Given the description of an element on the screen output the (x, y) to click on. 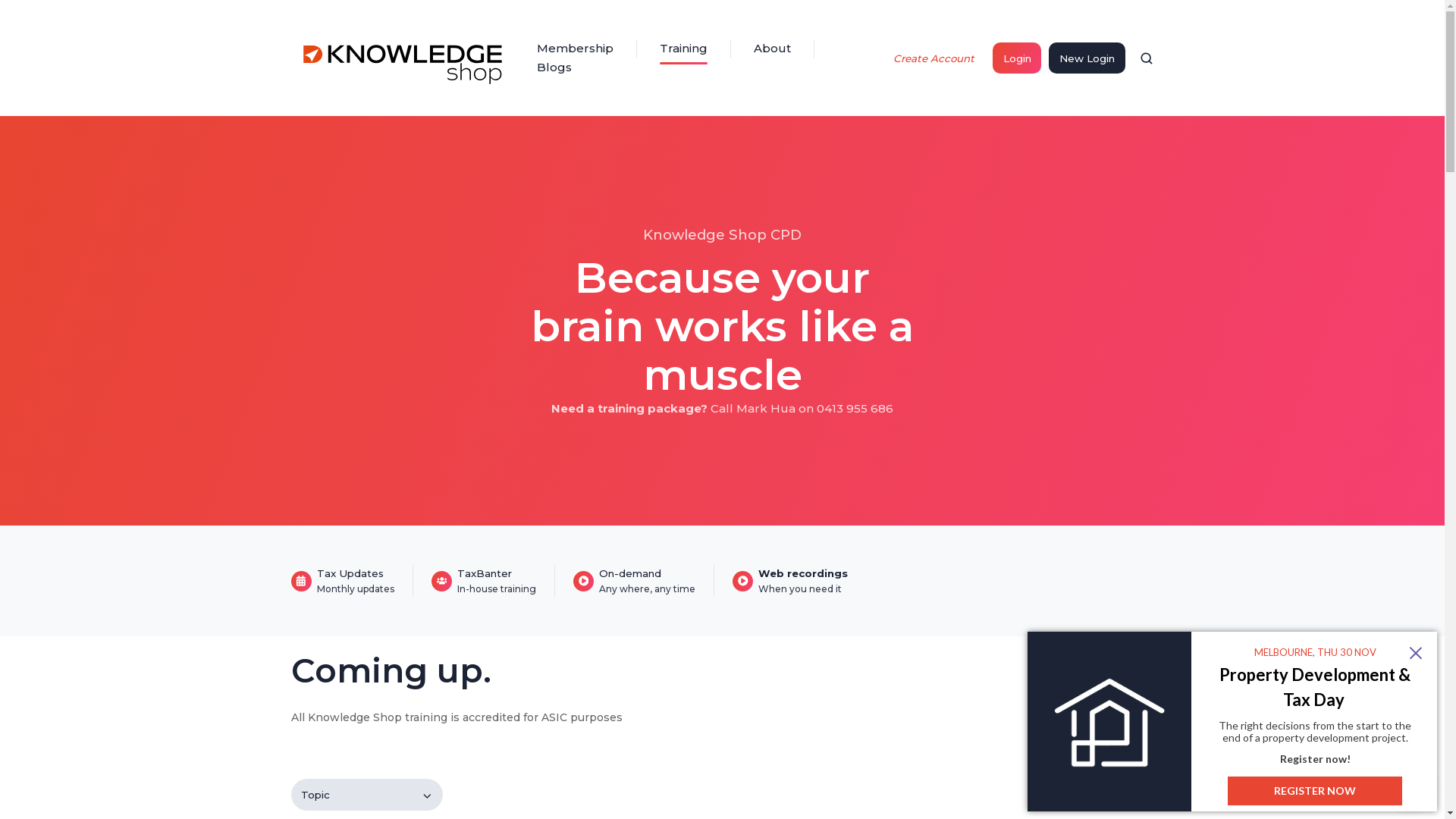
Terms of Service Element type: text (831, 630)
Register and Pay Now Element type: text (718, 683)
American Express Element type: hover (829, 249)
VISA Element type: hover (692, 249)
MasterCard Element type: hover (761, 249)
Cancel Element type: text (806, 684)
